Given the description of an element on the screen output the (x, y) to click on. 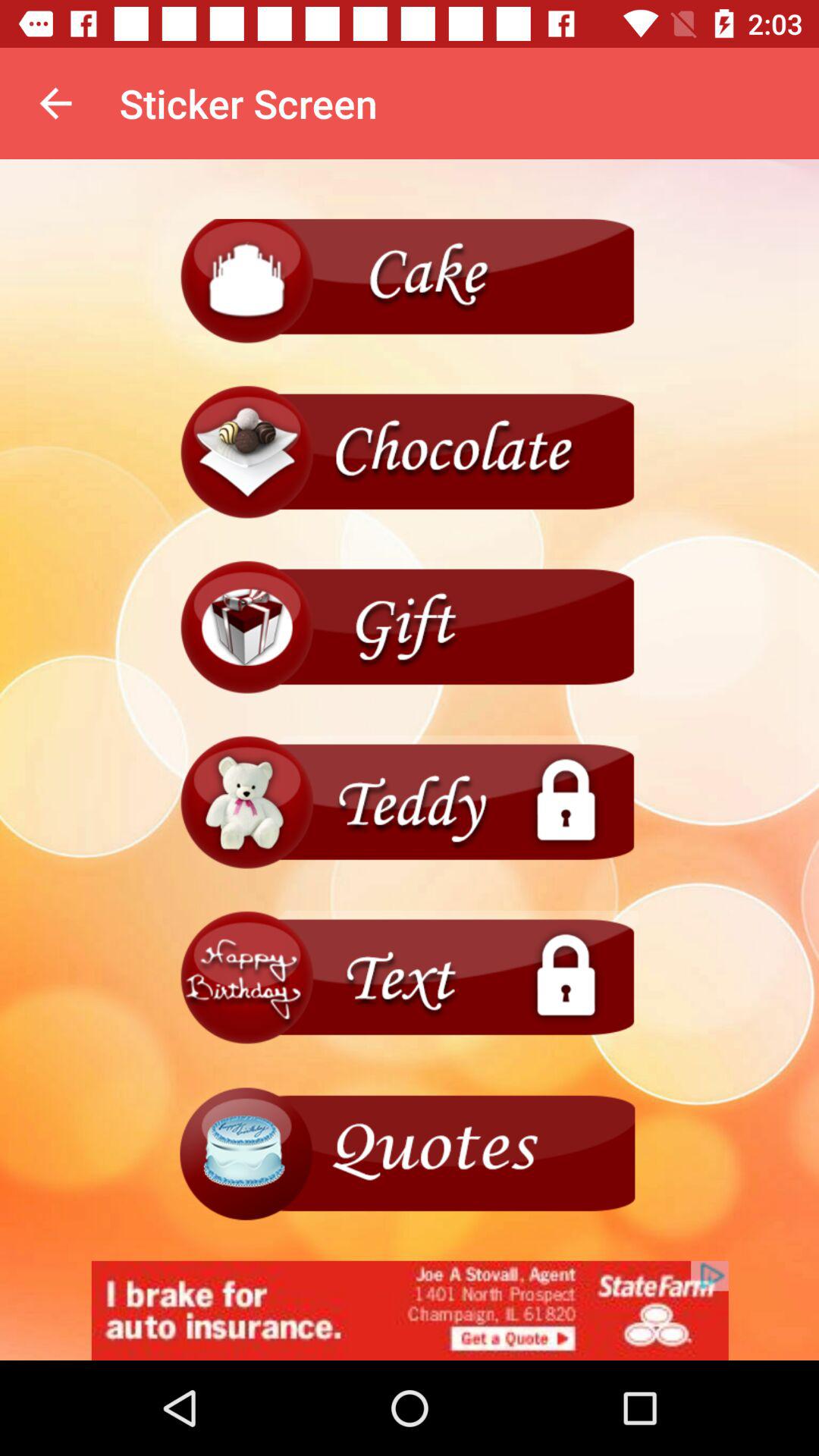
screen teddy lock button (409, 802)
